Given the description of an element on the screen output the (x, y) to click on. 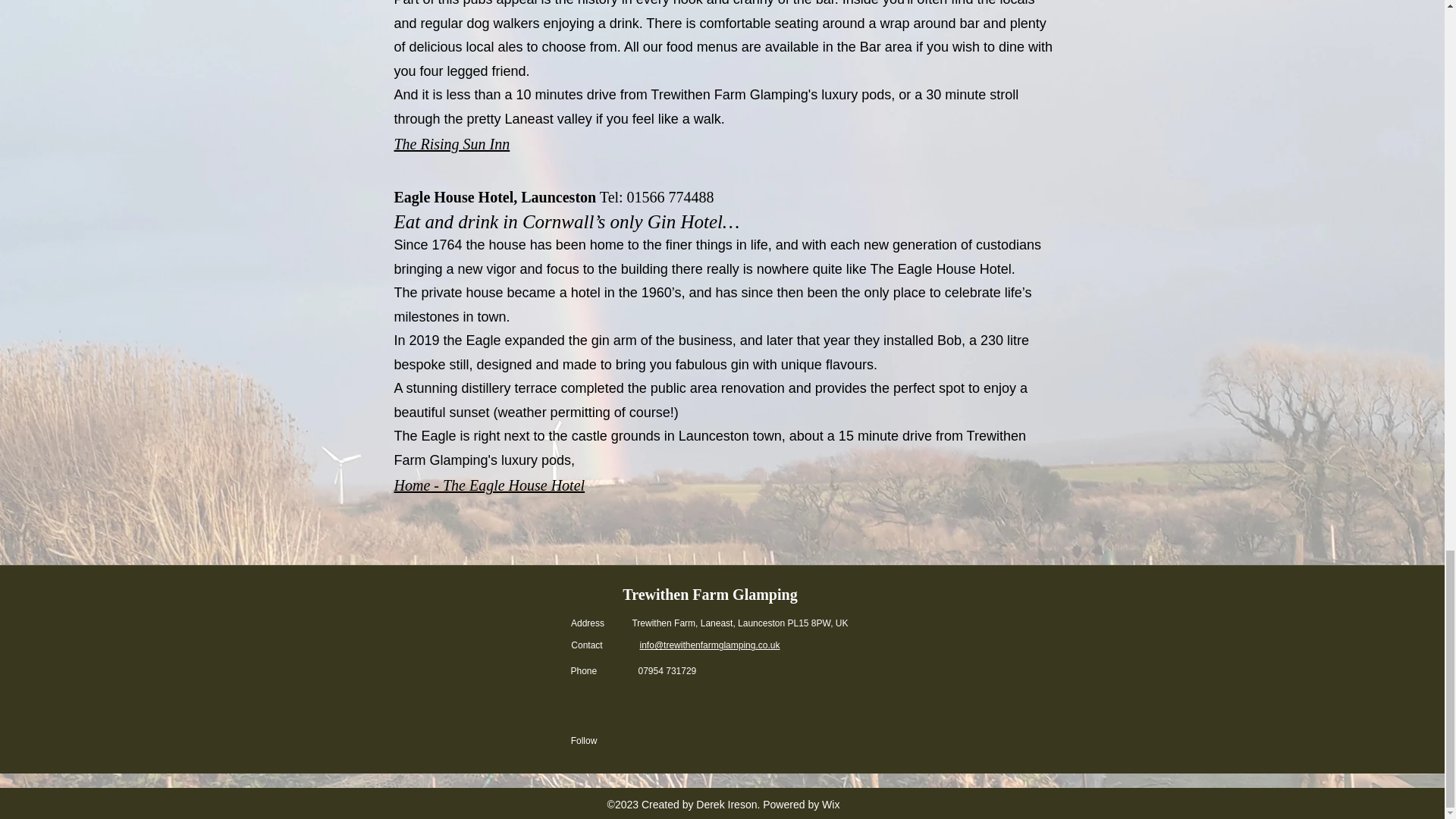
Home - The Eagle House Hotel (489, 484)
The Rising Sun Inn (452, 143)
07954 731729 (668, 670)
